Given the description of an element on the screen output the (x, y) to click on. 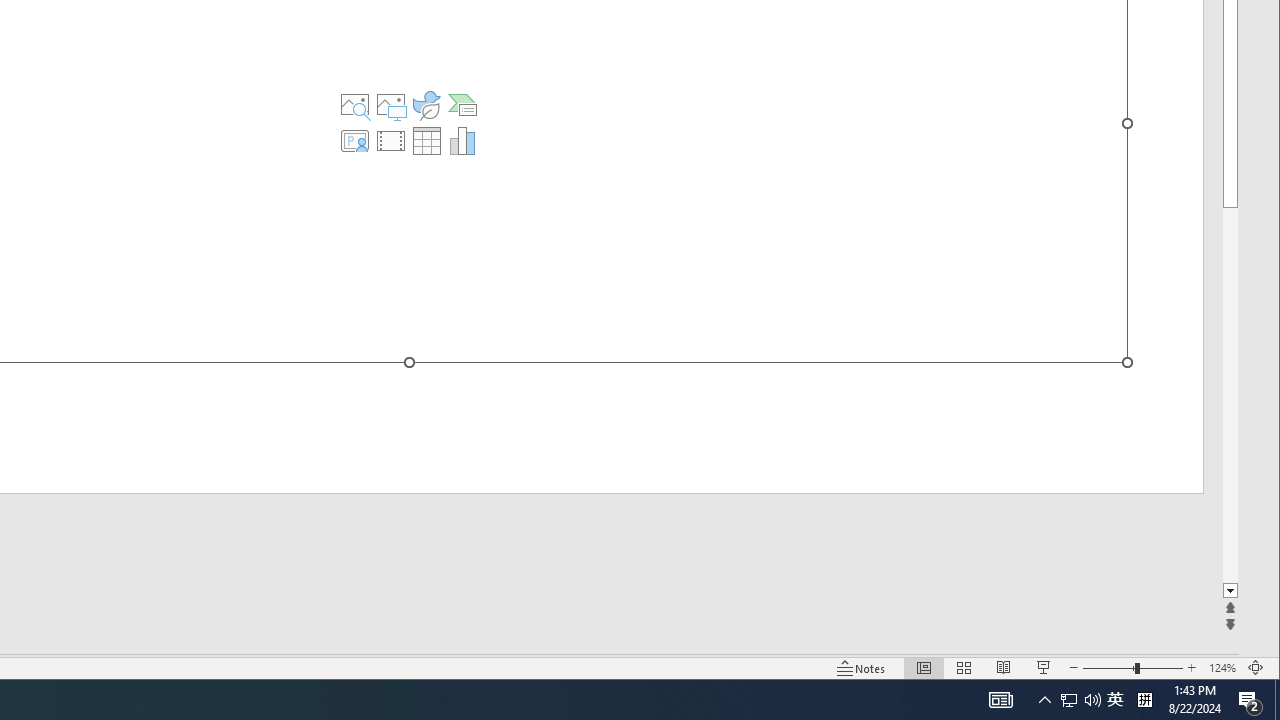
Zoom 124% (1222, 668)
